Given the description of an element on the screen output the (x, y) to click on. 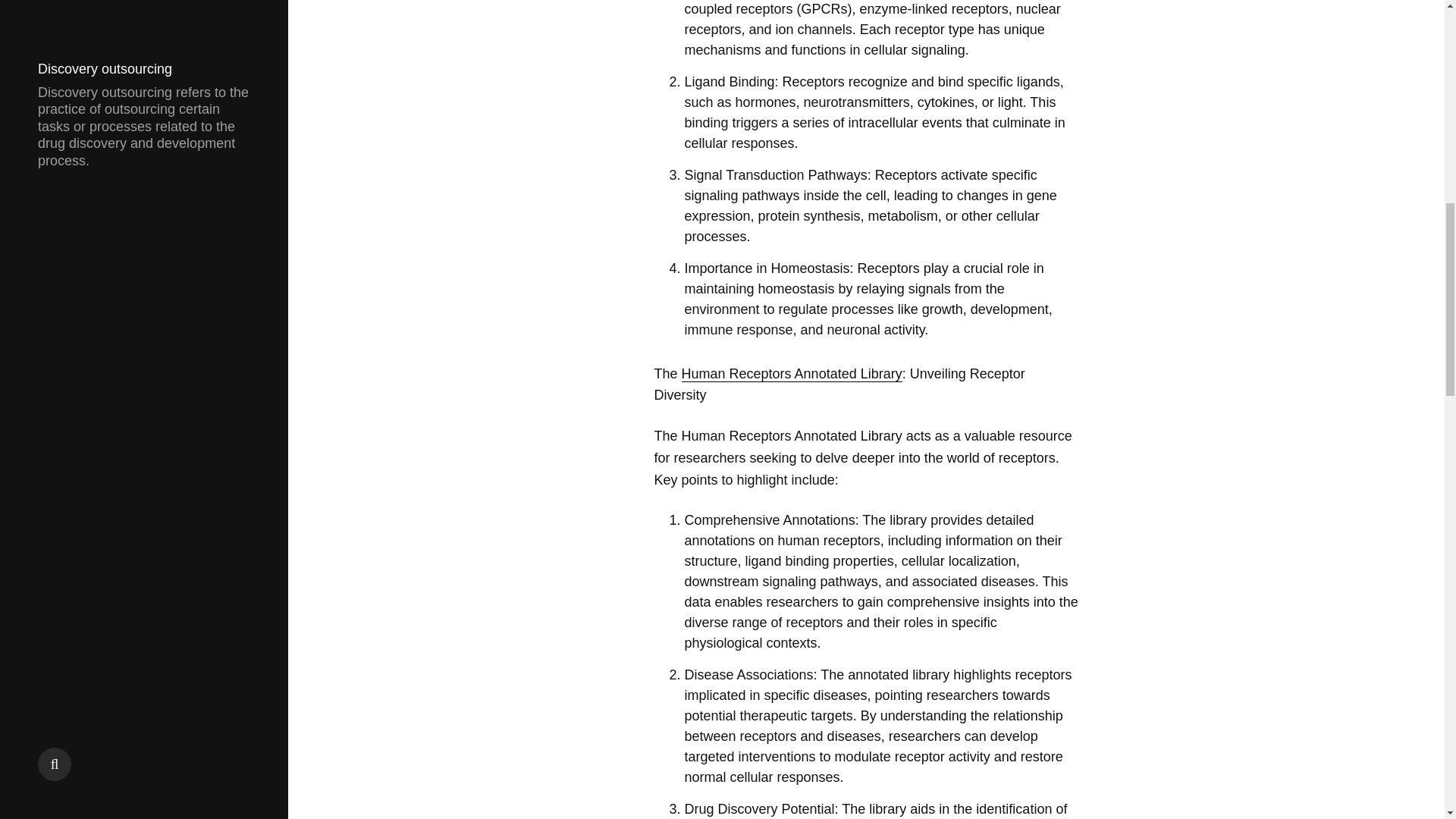
Human Receptors Annotated Library (791, 374)
